Given the description of an element on the screen output the (x, y) to click on. 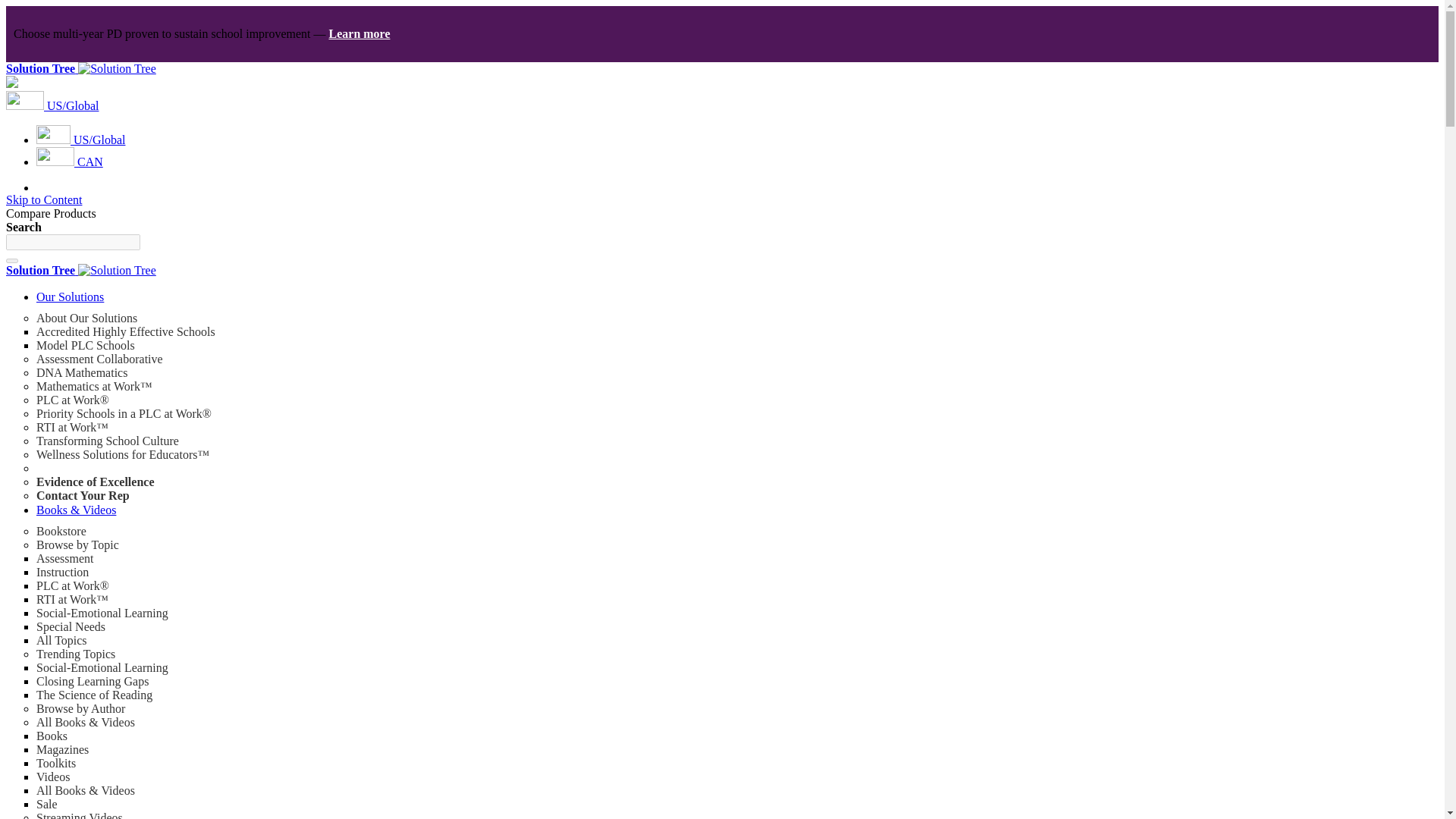
About Our Solutions (86, 318)
Solution Tree (80, 269)
Compare Products (50, 213)
Compare Products (50, 213)
Model PLC Schools (85, 345)
The Science of Reading (94, 694)
All Topics (61, 640)
Accredited Highly Effective Schools (125, 331)
Social-Emotional Learning (102, 612)
Learn more (359, 33)
Contact Your Rep (82, 495)
DNA Mathematics (82, 372)
Evidence of Excellence (95, 481)
Bookstore (60, 530)
Solution Tree (80, 68)
